Given the description of an element on the screen output the (x, y) to click on. 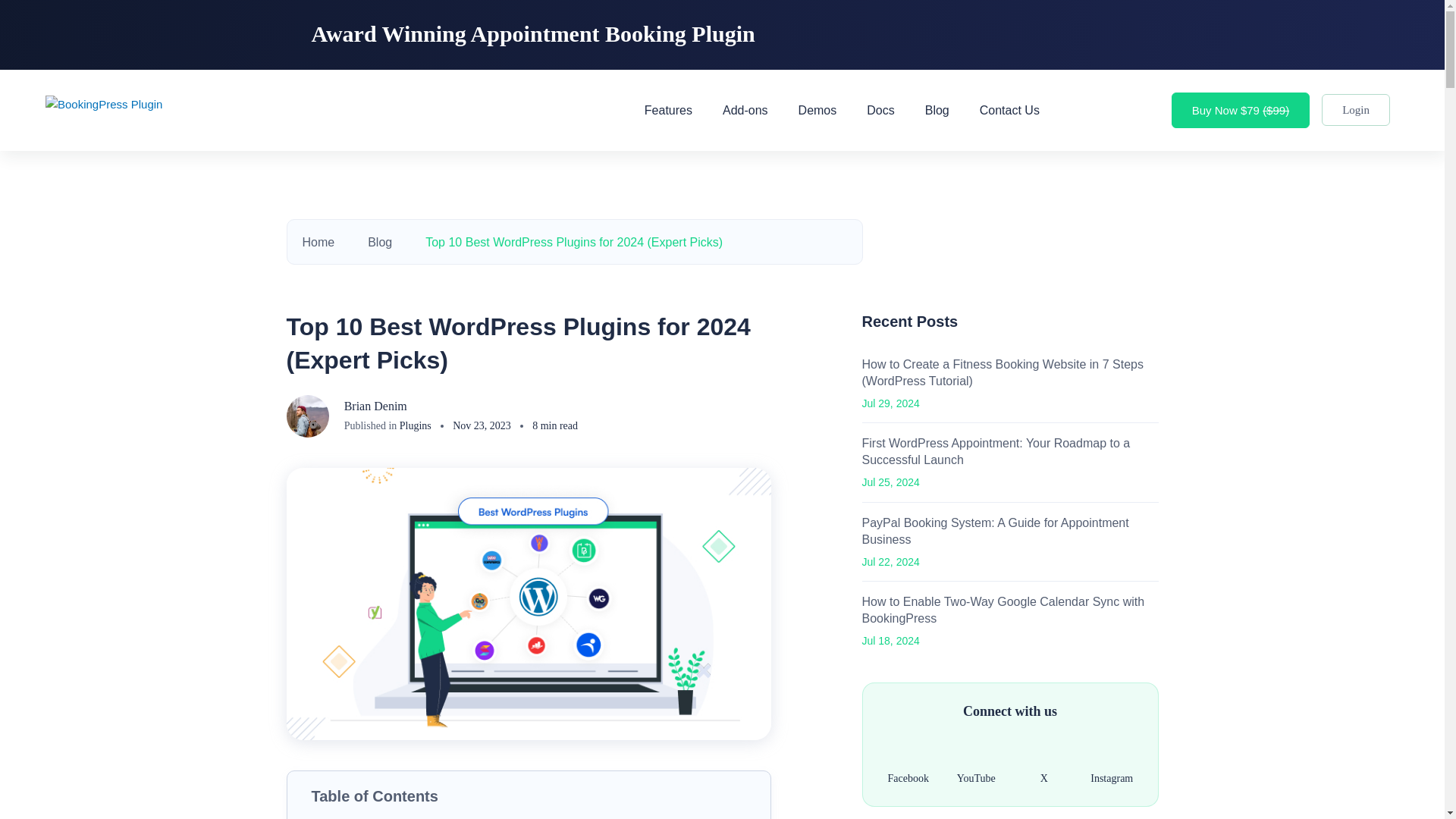
Blog (936, 109)
Posts by Brian Denim (375, 405)
Demos (817, 109)
BookingPress Plugin (103, 110)
Brian Denim (375, 405)
Login (1356, 110)
Home (317, 242)
Docs (879, 109)
Blog (379, 241)
Features (667, 109)
Contact Us (1008, 109)
Go to Blogs (379, 241)
Add-ons (745, 109)
